Given the description of an element on the screen output the (x, y) to click on. 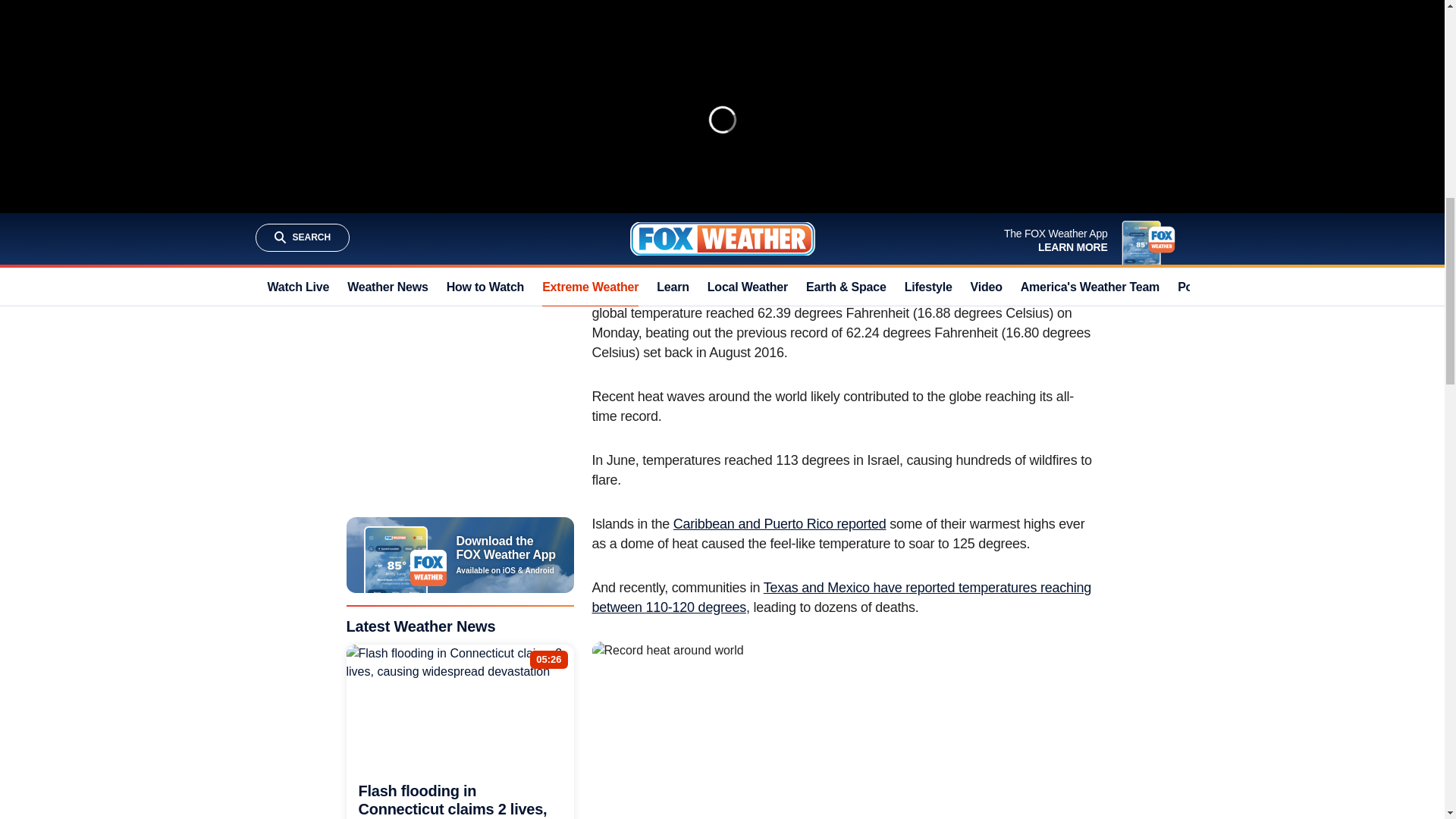
Caribbean and Puerto Rico reported (779, 523)
Climate researchers: July 4 was hottest day on Earth (727, 110)
climate (952, 249)
